Given the description of an element on the screen output the (x, y) to click on. 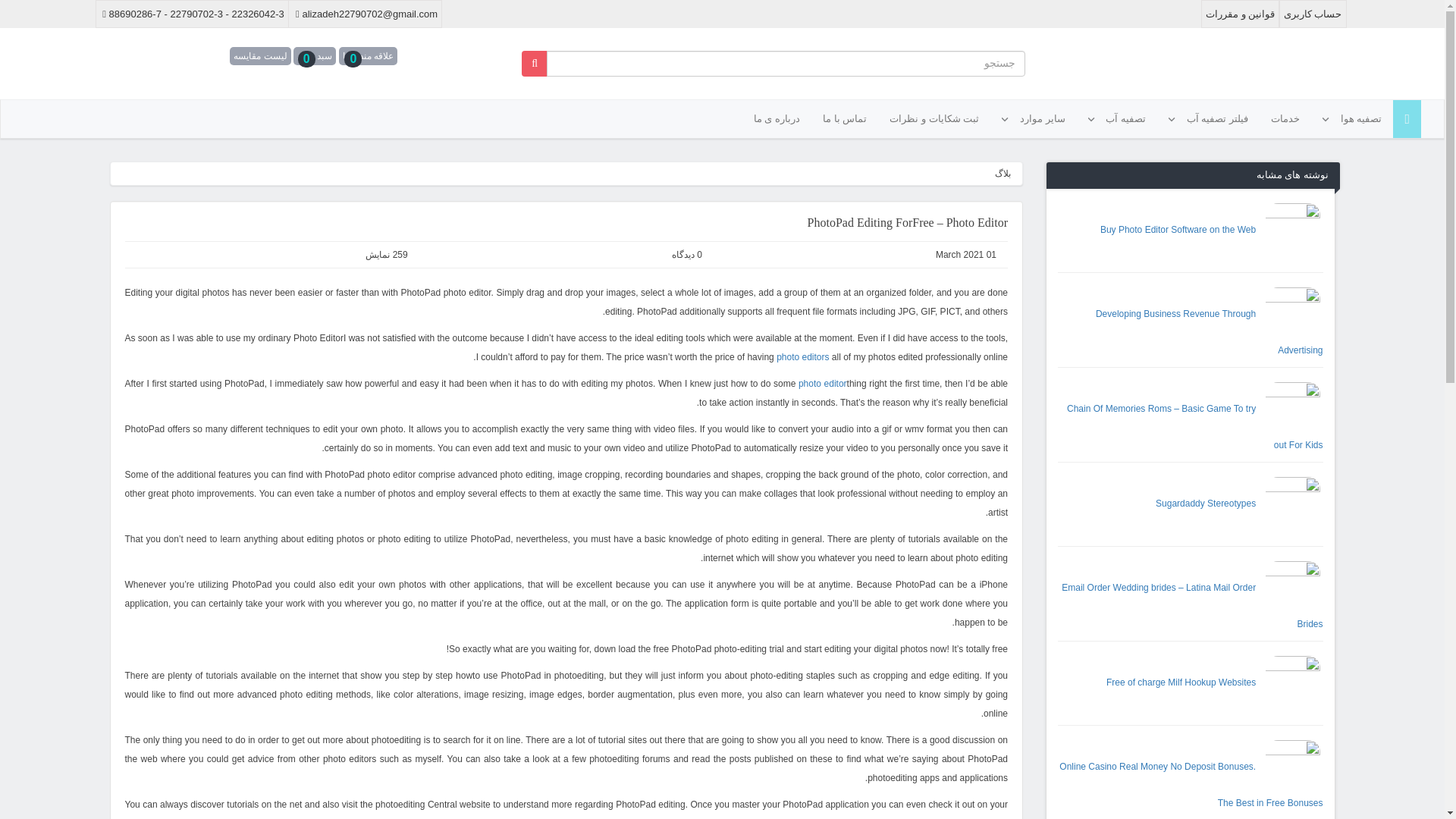
photo editors (802, 357)
Developing Business Revenue Through Advertising (1209, 331)
Buy Photo Editor Software on the Web (1211, 229)
22326042-3 - 22790702-3 - 88690286-7   (191, 13)
photo editor (822, 383)
